Given the description of an element on the screen output the (x, y) to click on. 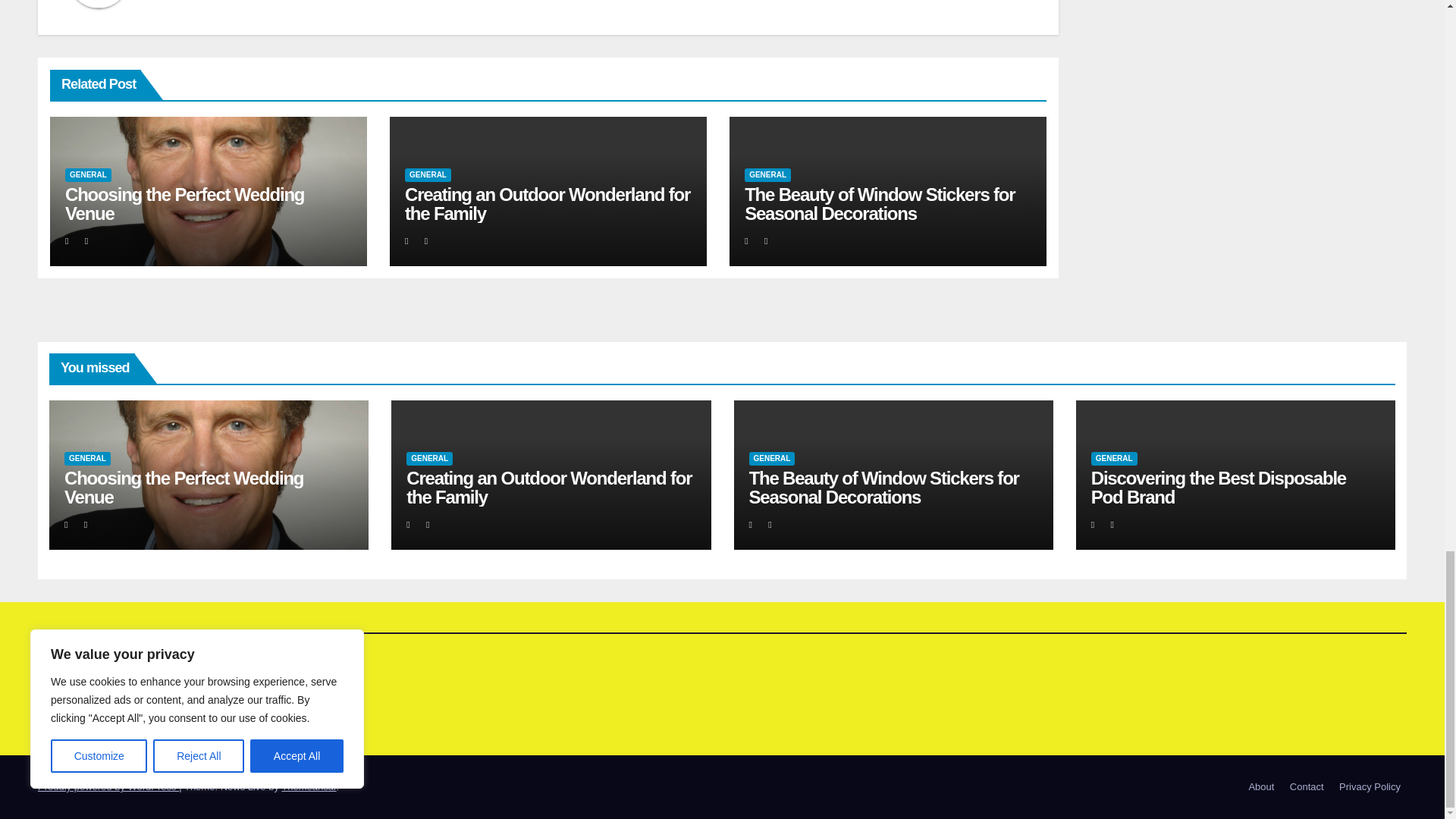
Permalink to: Creating an Outdoor Wonderland for the Family (547, 203)
Contact (1307, 786)
Privacy Policy (1369, 786)
Permalink to: Choosing the Perfect Wedding Venue (184, 203)
Permalink to: Discovering the Best Disposable Pod Brand (1217, 486)
Permalink to: Creating an Outdoor Wonderland for the Family (548, 486)
Permalink to: Choosing the Perfect Wedding Venue (183, 486)
About (1260, 786)
